Given the description of an element on the screen output the (x, y) to click on. 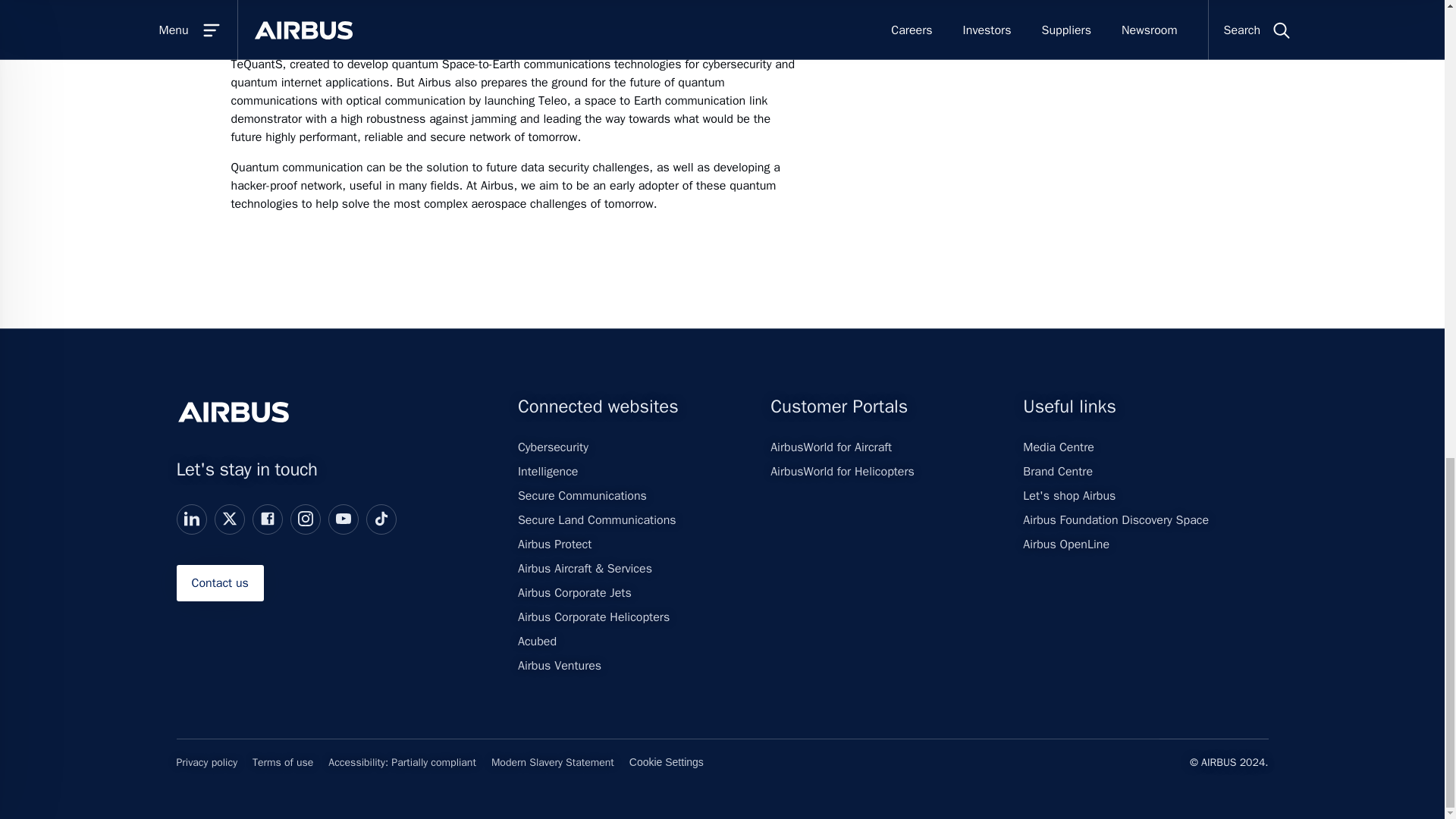
YouTube (342, 518)
TikTok (380, 518)
X (228, 518)
LinkedIn (190, 518)
Instagram (305, 518)
Facebook (267, 518)
